Given the description of an element on the screen output the (x, y) to click on. 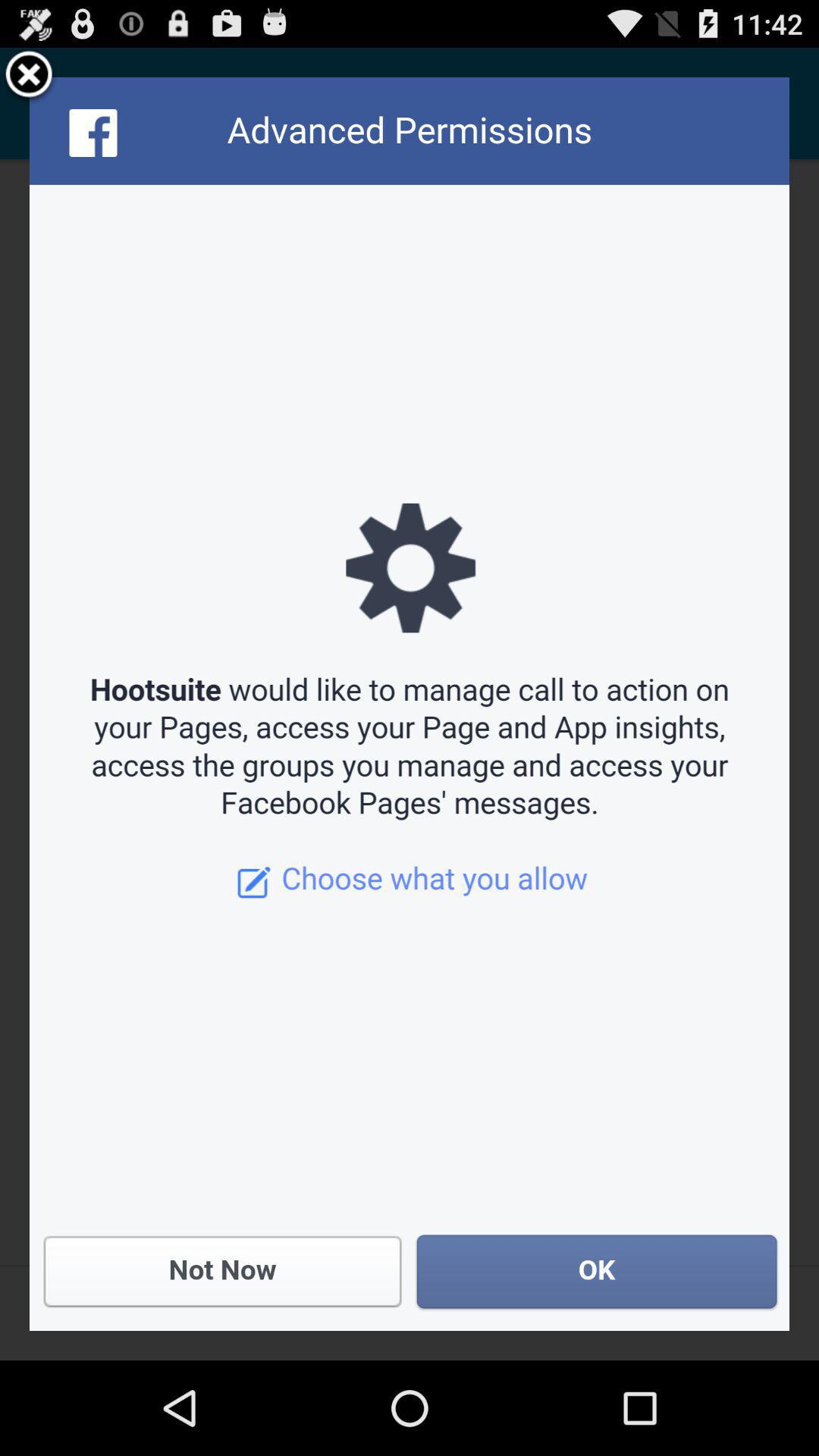
tap the icon at the center (409, 703)
